Given the description of an element on the screen output the (x, y) to click on. 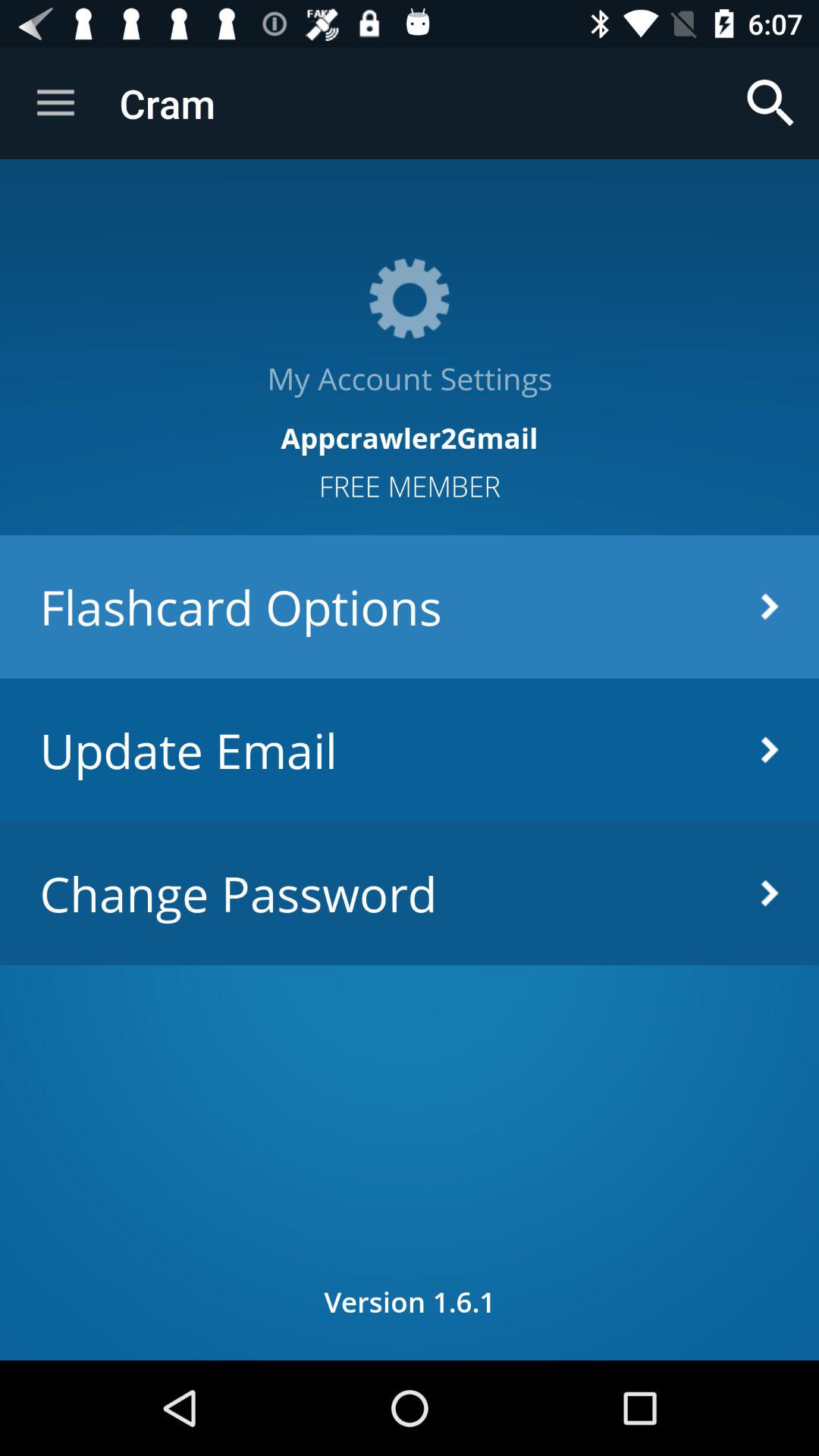
select item above change password item (409, 749)
